Given the description of an element on the screen output the (x, y) to click on. 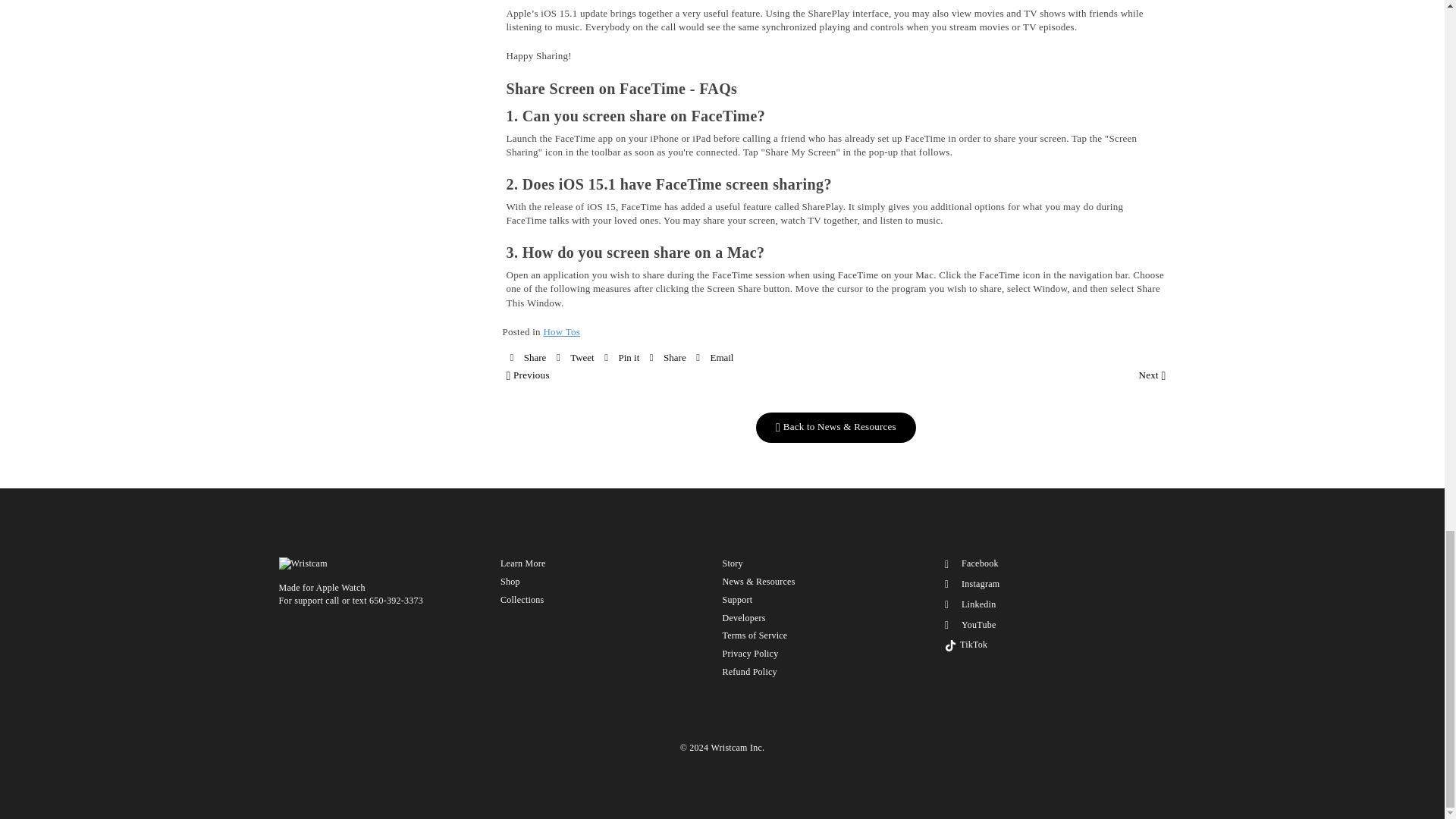
Share (667, 357)
Collections (522, 599)
Wristcam on Facebook (971, 563)
Next (1152, 375)
Share (527, 357)
Pin on Pinterest (621, 357)
Email (714, 357)
Share on Linked In (667, 357)
Pin it (621, 357)
Tweet (575, 357)
